Given the description of an element on the screen output the (x, y) to click on. 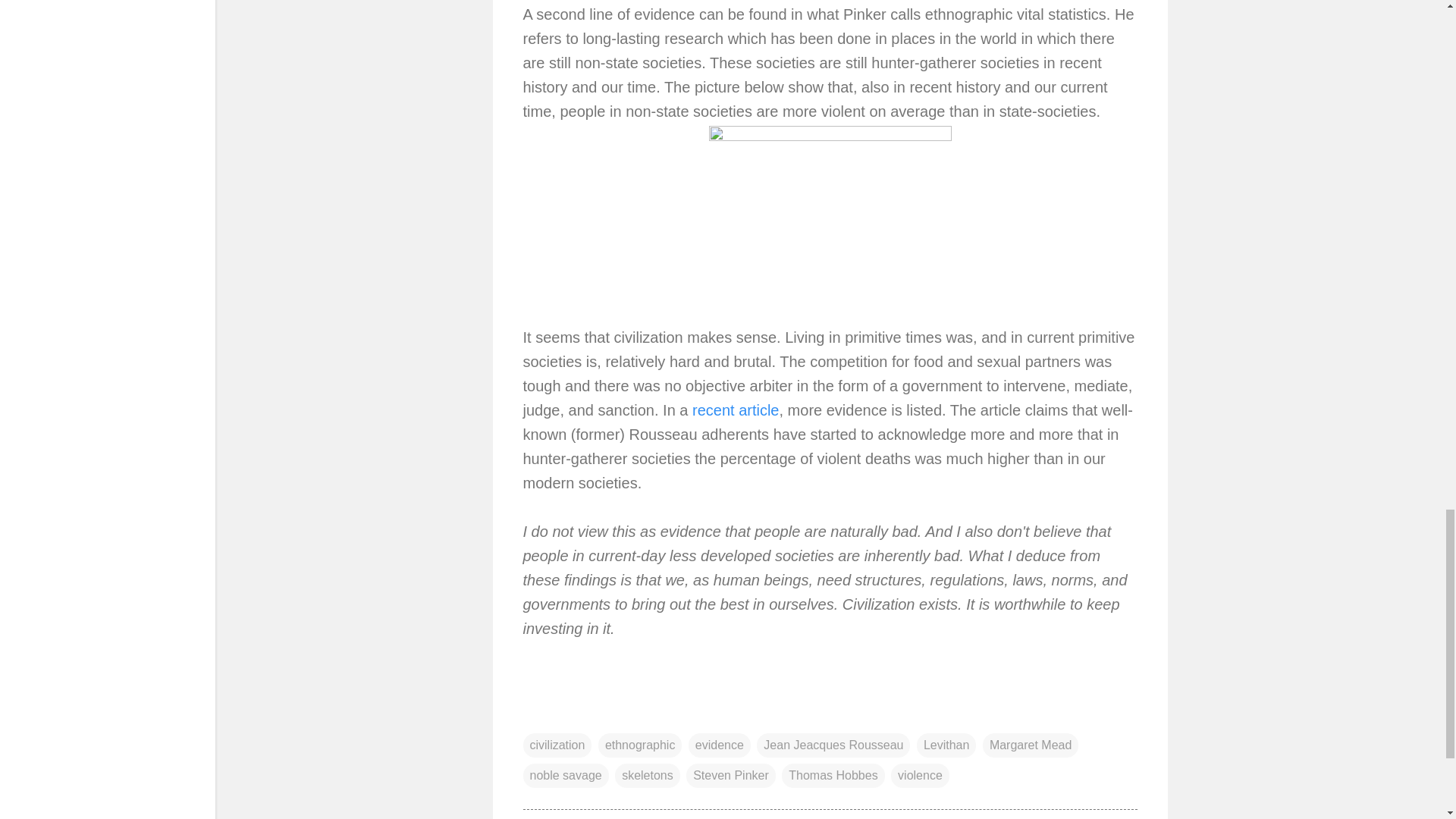
ethnographic (640, 745)
Email Post (531, 714)
Jean Jeacques Rousseau (833, 745)
Thomas Hobbes (832, 775)
noble savage (565, 775)
skeletons (646, 775)
recent article (735, 410)
Steven Pinker (730, 775)
evidence (719, 745)
violence (920, 775)
Margaret Mead (1030, 745)
Levithan (946, 745)
civilization (557, 745)
